Given the description of an element on the screen output the (x, y) to click on. 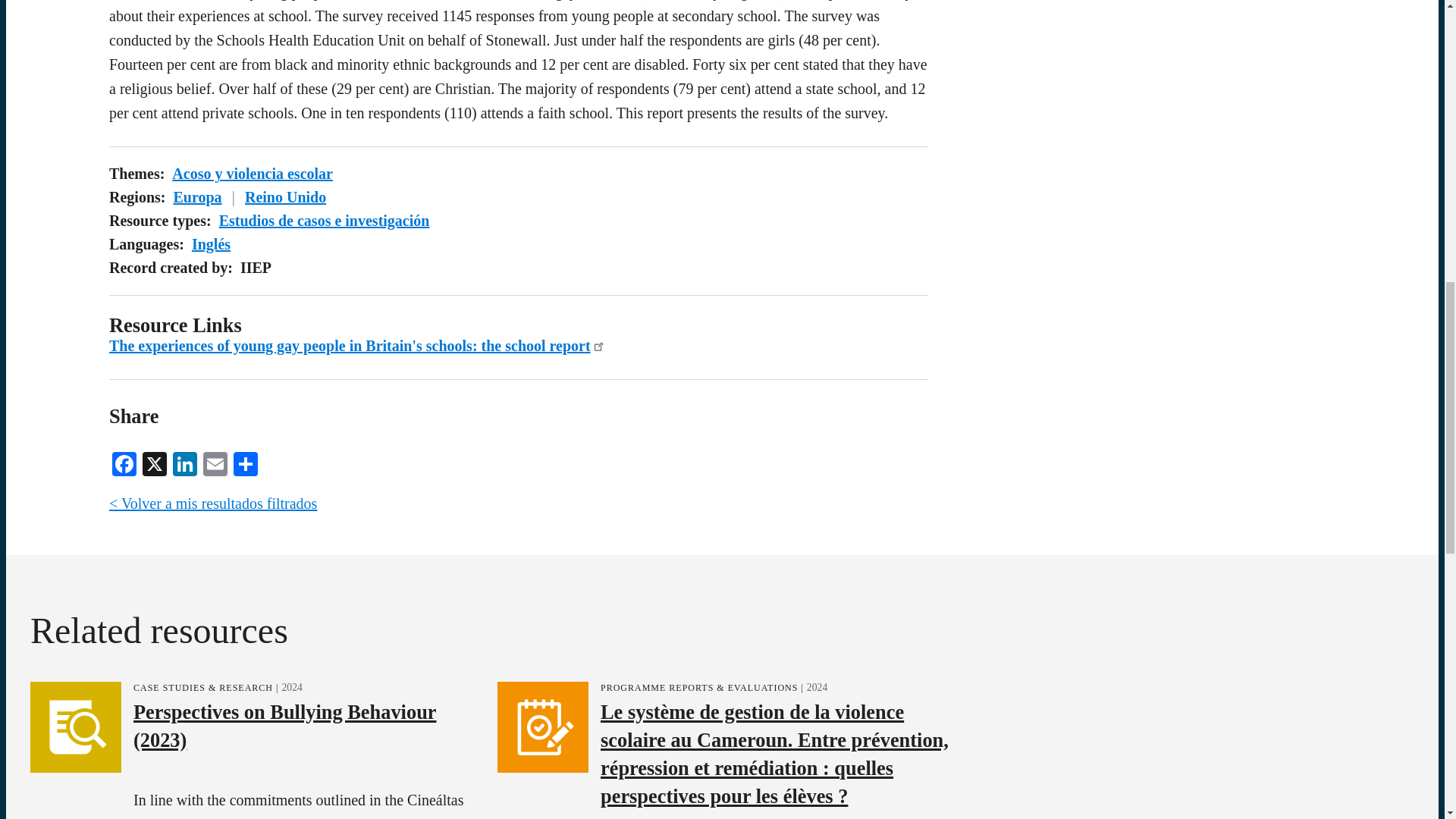
Acoso y violencia escolar (252, 173)
LinkedIn (185, 461)
Reino Unido (285, 197)
Europa (197, 197)
Email (215, 461)
X (154, 461)
Facebook (124, 461)
